Given the description of an element on the screen output the (x, y) to click on. 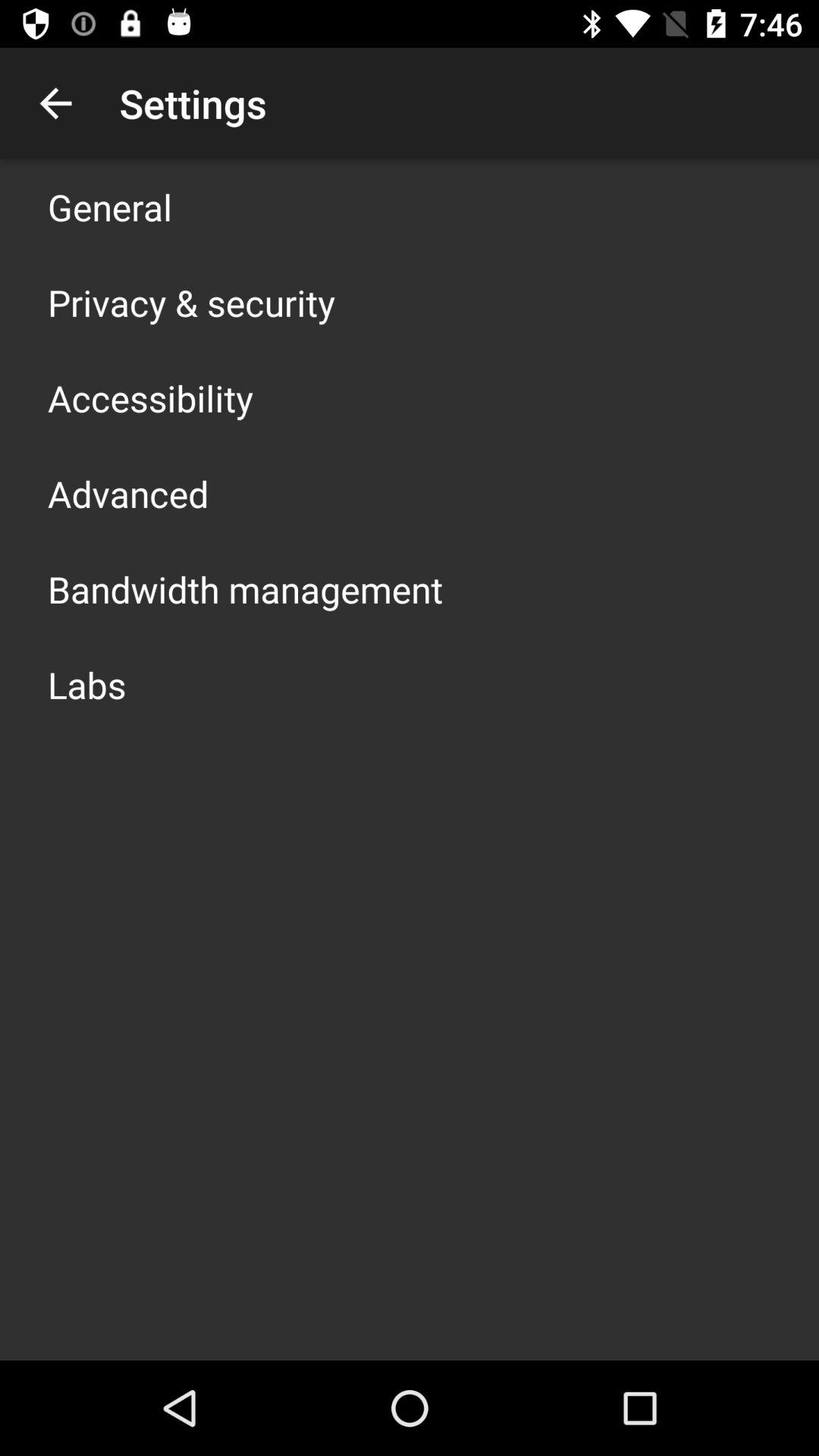
press the item below general (190, 302)
